Given the description of an element on the screen output the (x, y) to click on. 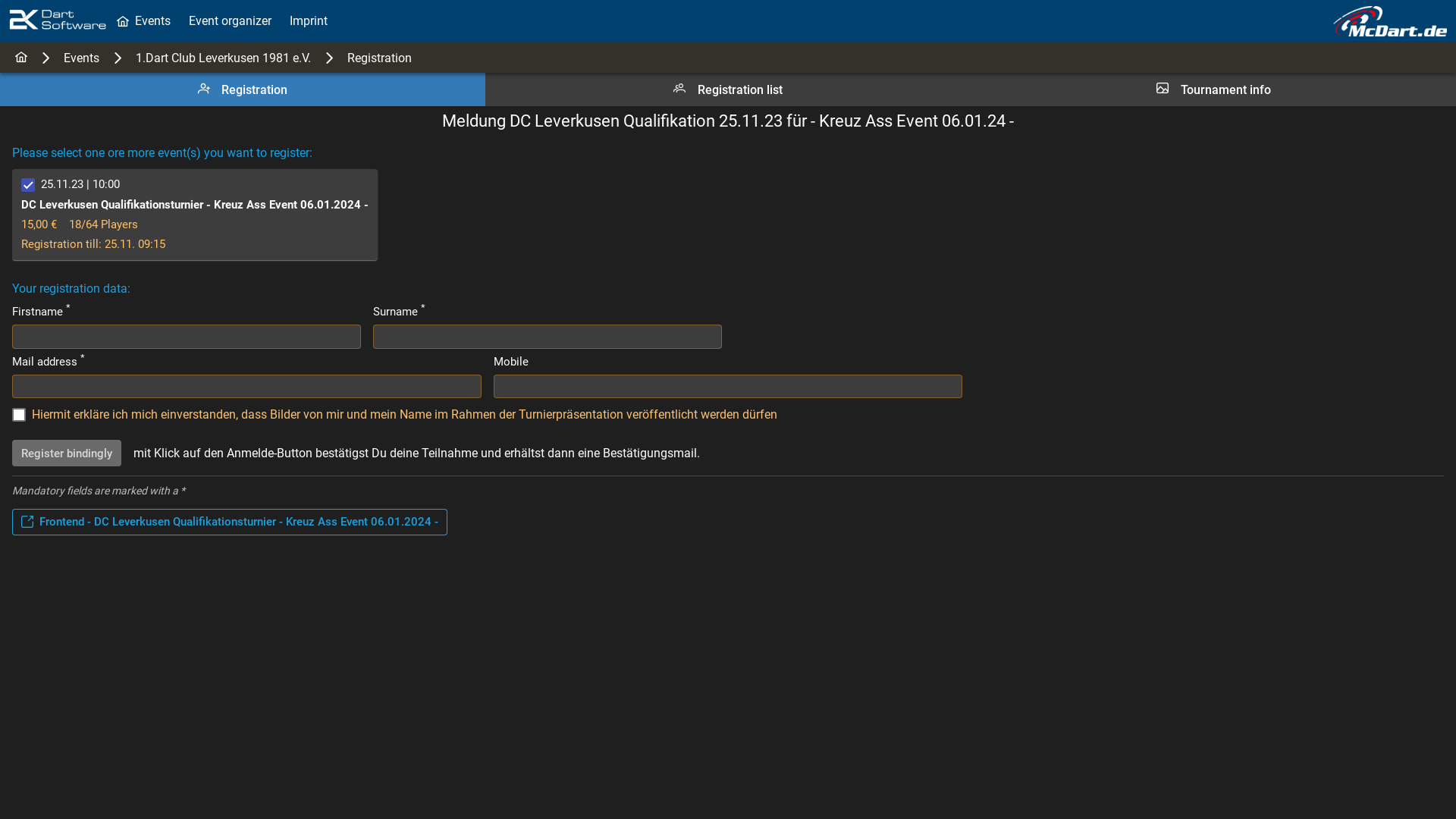
Events Element type: text (143, 21)
Register bindingly Element type: text (66, 452)
1.Dart Club Leverkusen 1981 e.V. Element type: text (222, 57)
Event organizer Element type: text (229, 21)
Registration Element type: text (379, 57)
Events Element type: text (81, 57)
Registration list Element type: text (728, 89)
Imprint Element type: text (308, 21)
